Given the description of an element on the screen output the (x, y) to click on. 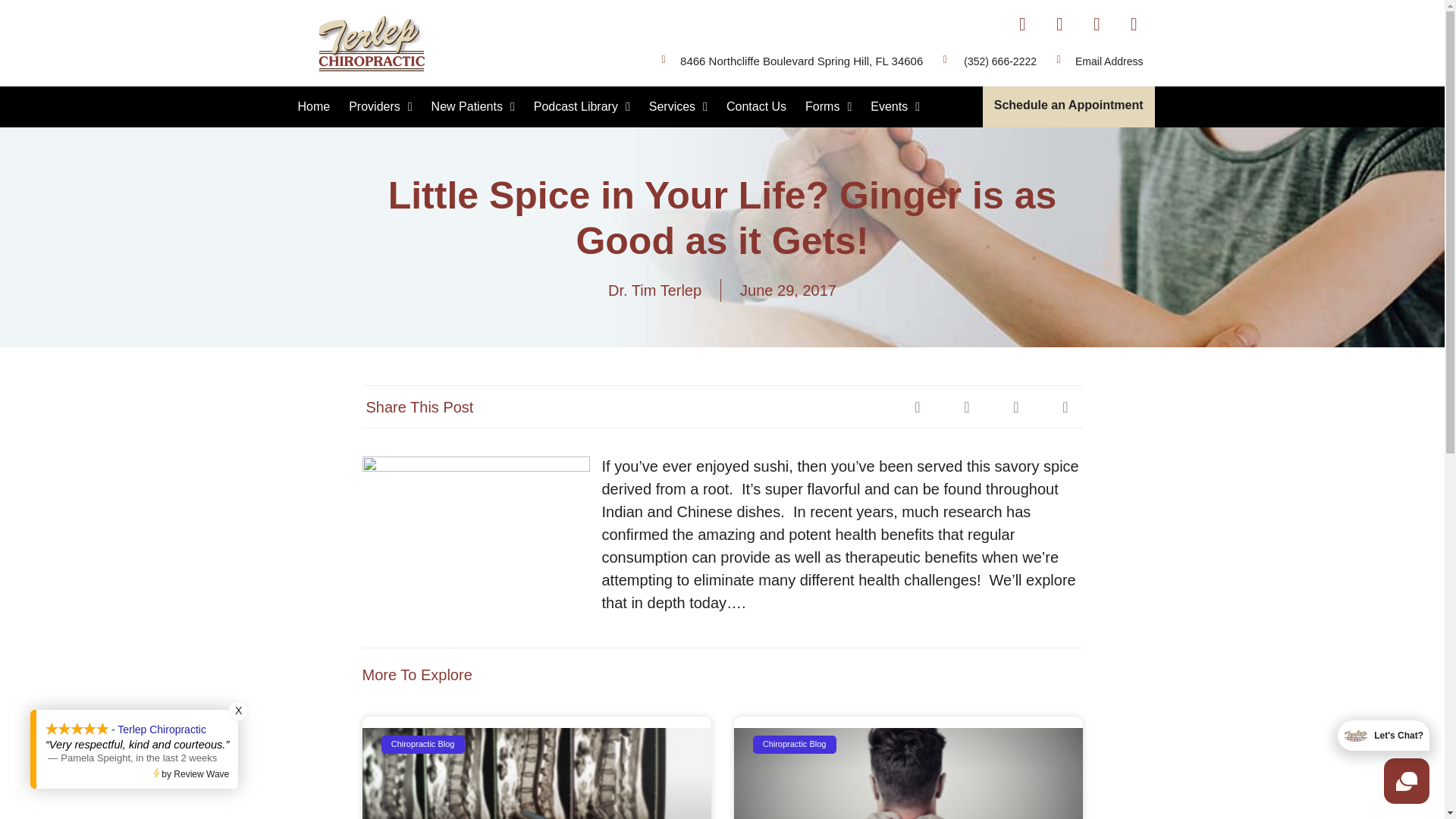
8466 Northcliffe Boulevard Spring Hill, FL 34606 (801, 60)
Forms (829, 106)
Email Address (1108, 61)
New Patients (473, 106)
Services (678, 106)
Events (894, 106)
Podcast Library (581, 106)
Providers (379, 106)
Contact Us (756, 106)
Home (314, 106)
